Given the description of an element on the screen output the (x, y) to click on. 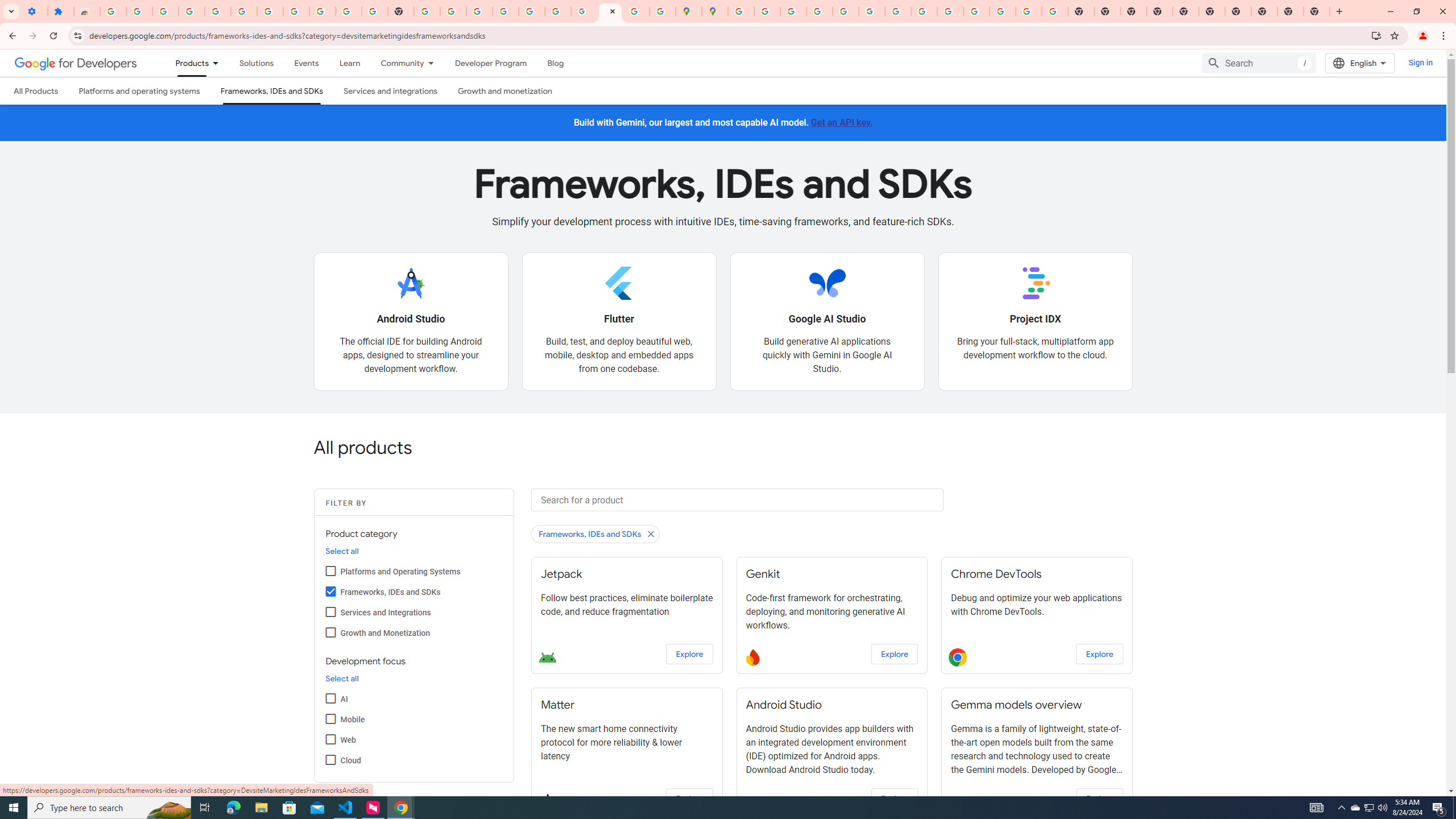
Reviews: Helix Fruit Jump Arcade Game (86, 11)
Select all (342, 678)
Dropdown menu for Products (219, 62)
Blog (556, 62)
Android Studio logo (411, 282)
AI (330, 697)
Sign in - Google Accounts (112, 11)
Cloud (330, 759)
Learning Catalog (350, 62)
